Given the description of an element on the screen output the (x, y) to click on. 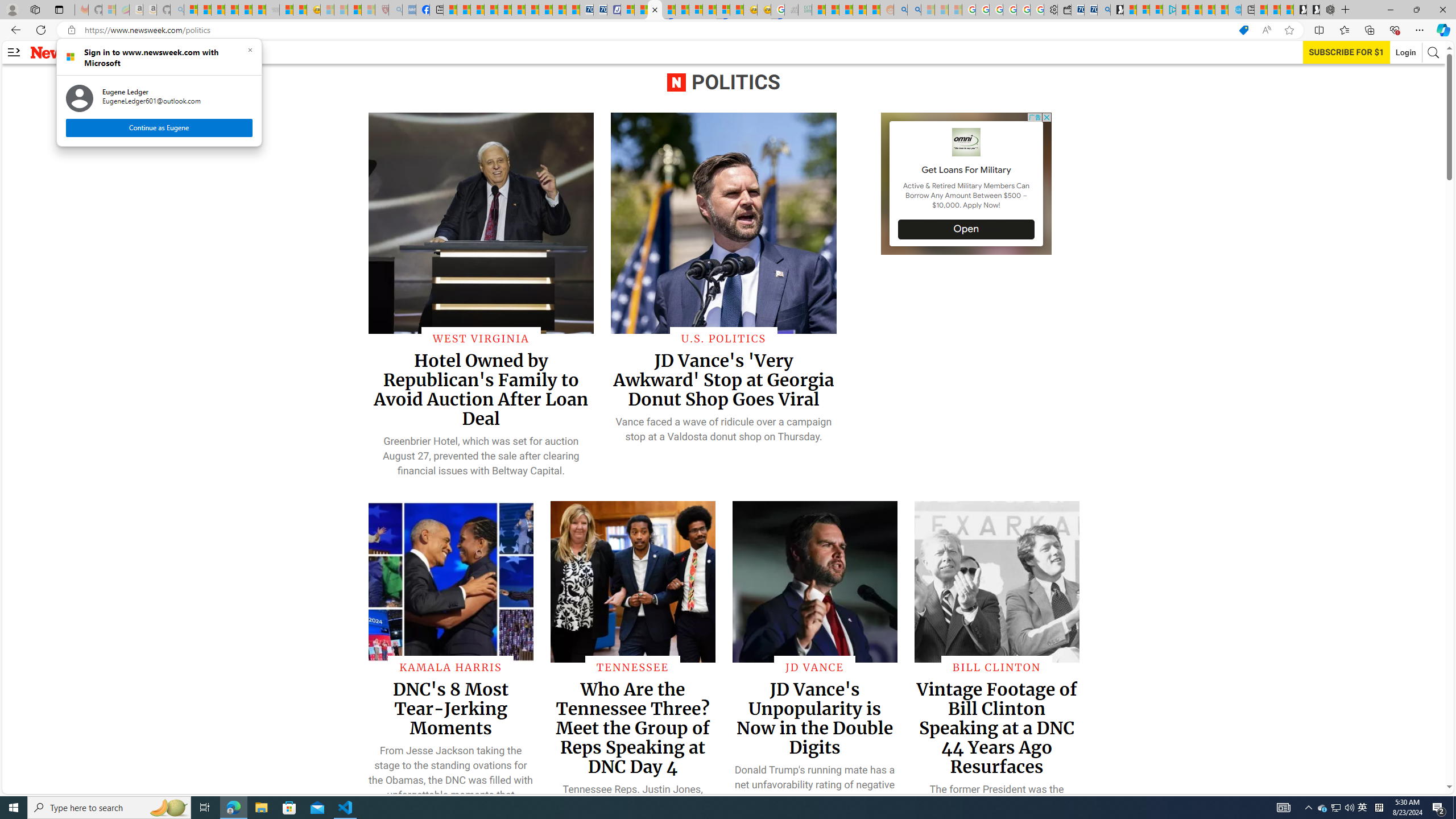
Cheap Hotels - Save70.com (599, 9)
KAMALA HARRIS (450, 667)
Microsoft Edge - 1 running window (1322, 807)
TENNESSEE (233, 807)
